Given the description of an element on the screen output the (x, y) to click on. 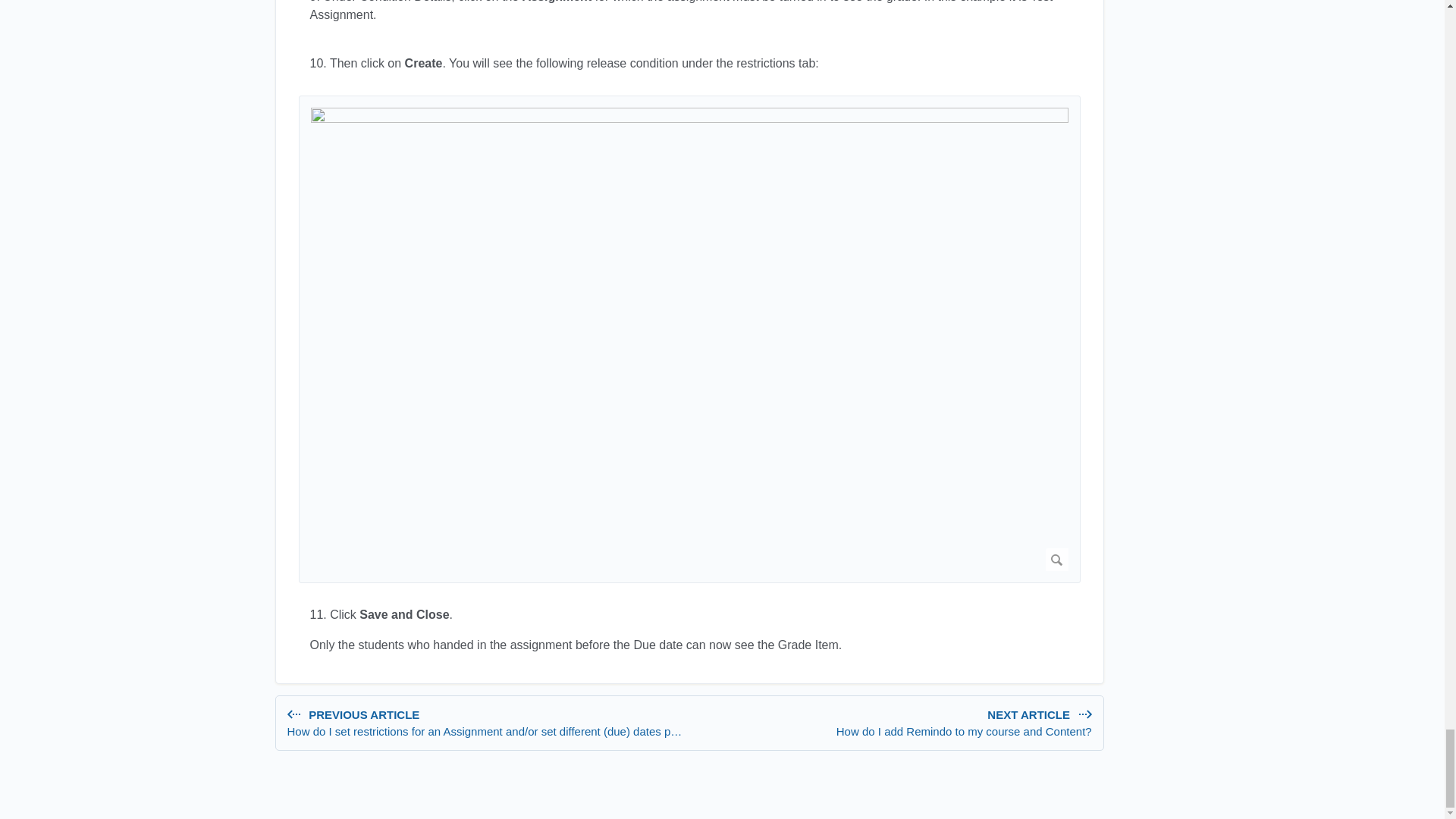
How do I add Remindo to my course and Content? (893, 722)
